Given the description of an element on the screen output the (x, y) to click on. 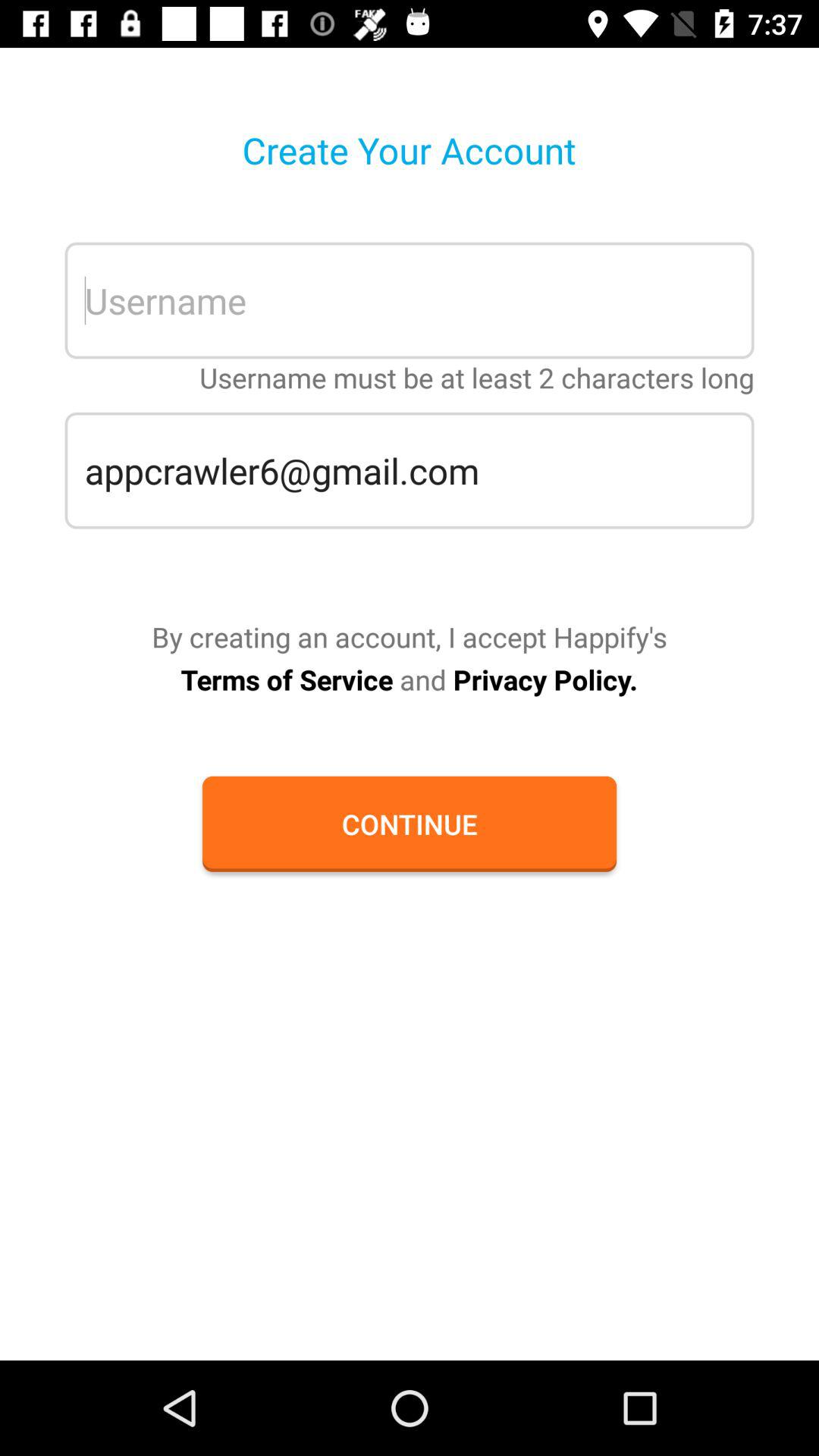
turn on item below create your account icon (409, 300)
